Given the description of an element on the screen output the (x, y) to click on. 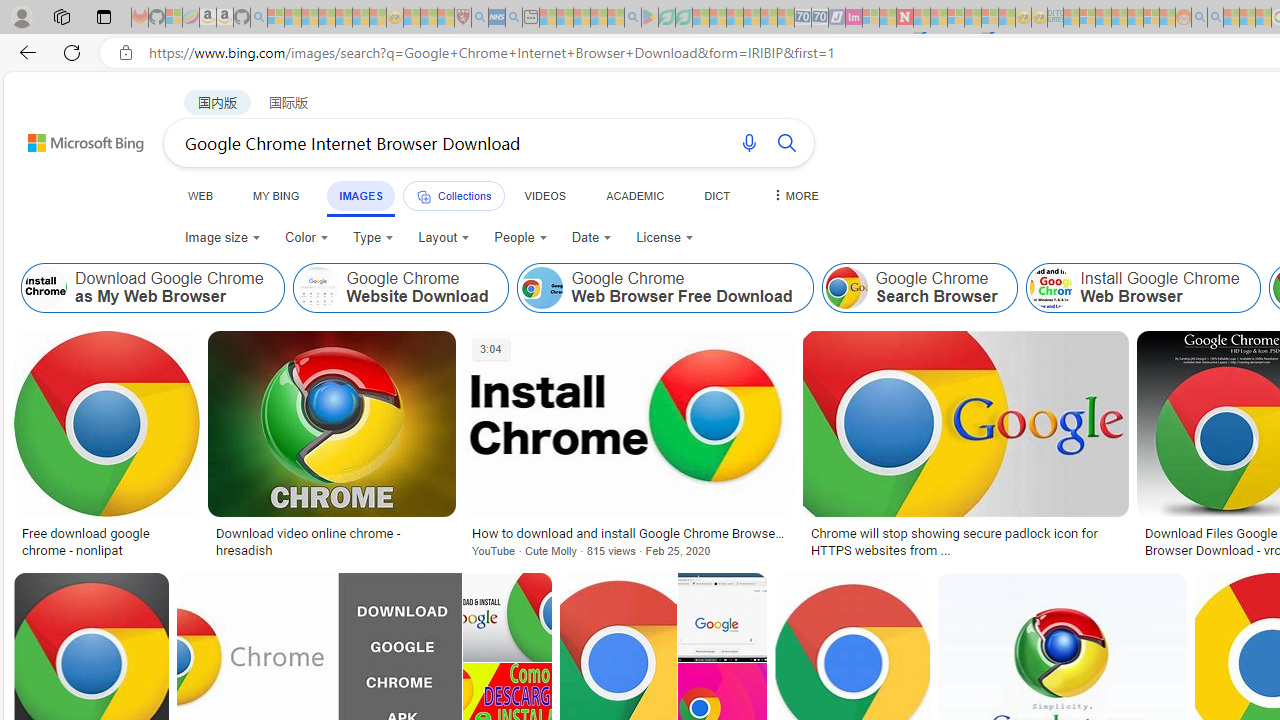
Microsoft-Report a Concern to Bing - Sleeping (173, 17)
Install Google Chrome Web Browser (1142, 287)
utah sues federal government - Search - Sleeping (513, 17)
Image result for Google Chrome Internet Browser Download (722, 617)
Robert H. Shmerling, MD - Harvard Health - Sleeping (462, 17)
DITOGAMES AG Imprint - Sleeping (1055, 17)
Download video online chrome - hresadish (332, 541)
Expert Portfolios - Sleeping (1119, 17)
